Given the description of an element on the screen output the (x, y) to click on. 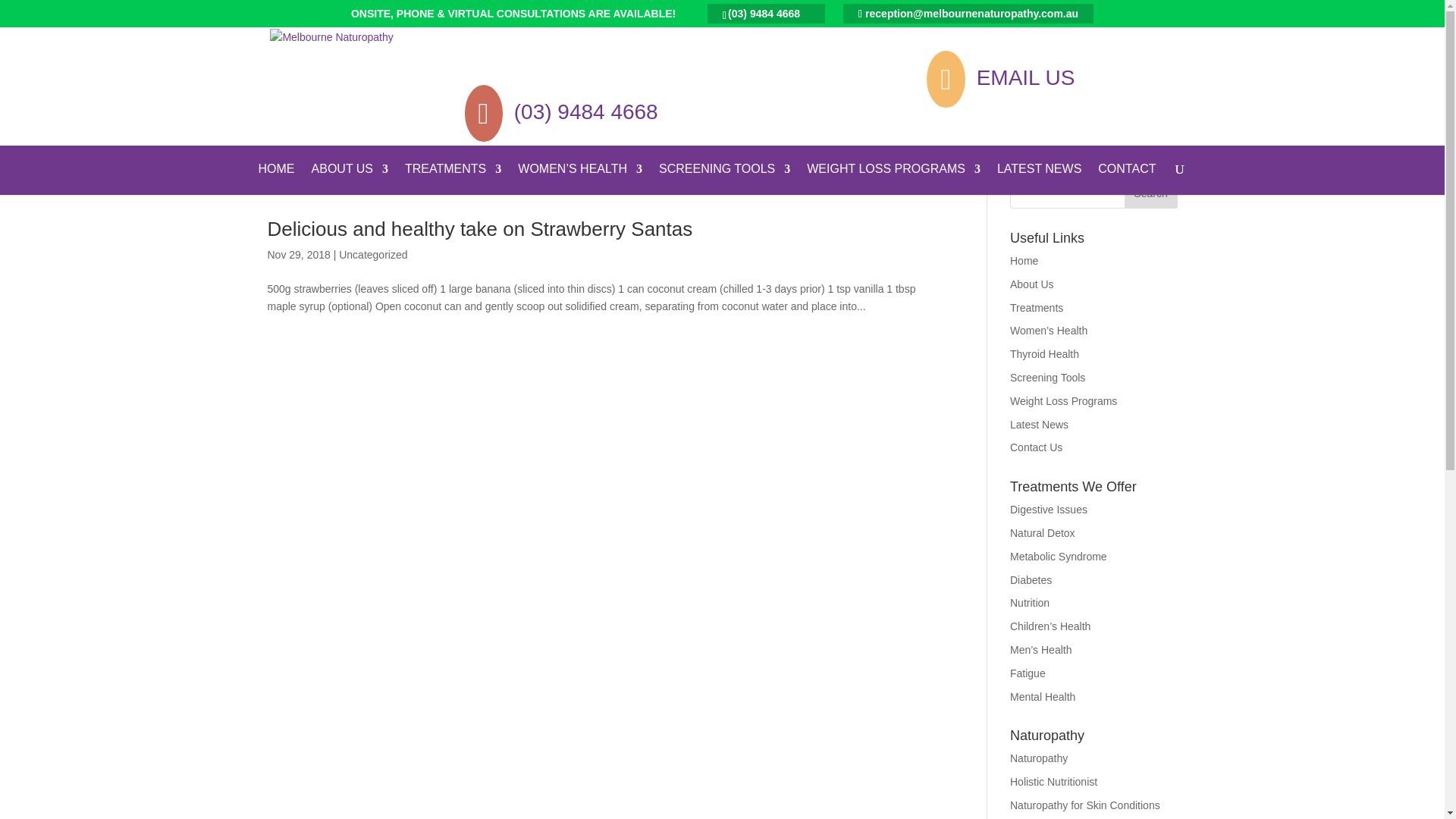
(03) 9484 4668 Element type: text (586, 111)
WEIGHT LOSS PROGRAMS Element type: text (893, 178)
Metabolic Syndrome Element type: text (1058, 556)
(03) 9484 4668 Element type: text (766, 12)
Search Element type: text (1149, 193)
HOME Element type: text (276, 178)
CONTACT Element type: text (1126, 178)
Home Element type: text (1024, 260)
Latest News Element type: text (1039, 424)
LATEST NEWS Element type: text (1039, 178)
Holistic Nutritionist Element type: text (1053, 781)
About Us Element type: text (1032, 284)
Thyroid Health Element type: text (1044, 354)
Screening Tools Element type: text (1047, 377)
Naturopathy Element type: text (1038, 758)
Mental Health Element type: text (1042, 696)
TREATMENTS Element type: text (452, 178)
Natural Detox Element type: text (1042, 533)
reception@melbournenaturopathy.com.au Element type: text (968, 12)
Fatigue Element type: text (1027, 673)
Delicious and healthy take on Strawberry Santas Element type: text (479, 228)
EMAIL US Element type: text (1025, 77)
Naturopathy for Skin Conditions Element type: text (1085, 805)
Weight Loss Programs Element type: text (1063, 401)
ABOUT US Element type: text (350, 178)
Contact Us Element type: text (1036, 447)
Nutrition Element type: text (1029, 602)
Digestive Issues Element type: text (1048, 509)
Uncategorized Element type: text (372, 254)
Diabetes Element type: text (1030, 580)
Treatments Element type: text (1036, 307)
SCREENING TOOLS Element type: text (724, 178)
